Given the description of an element on the screen output the (x, y) to click on. 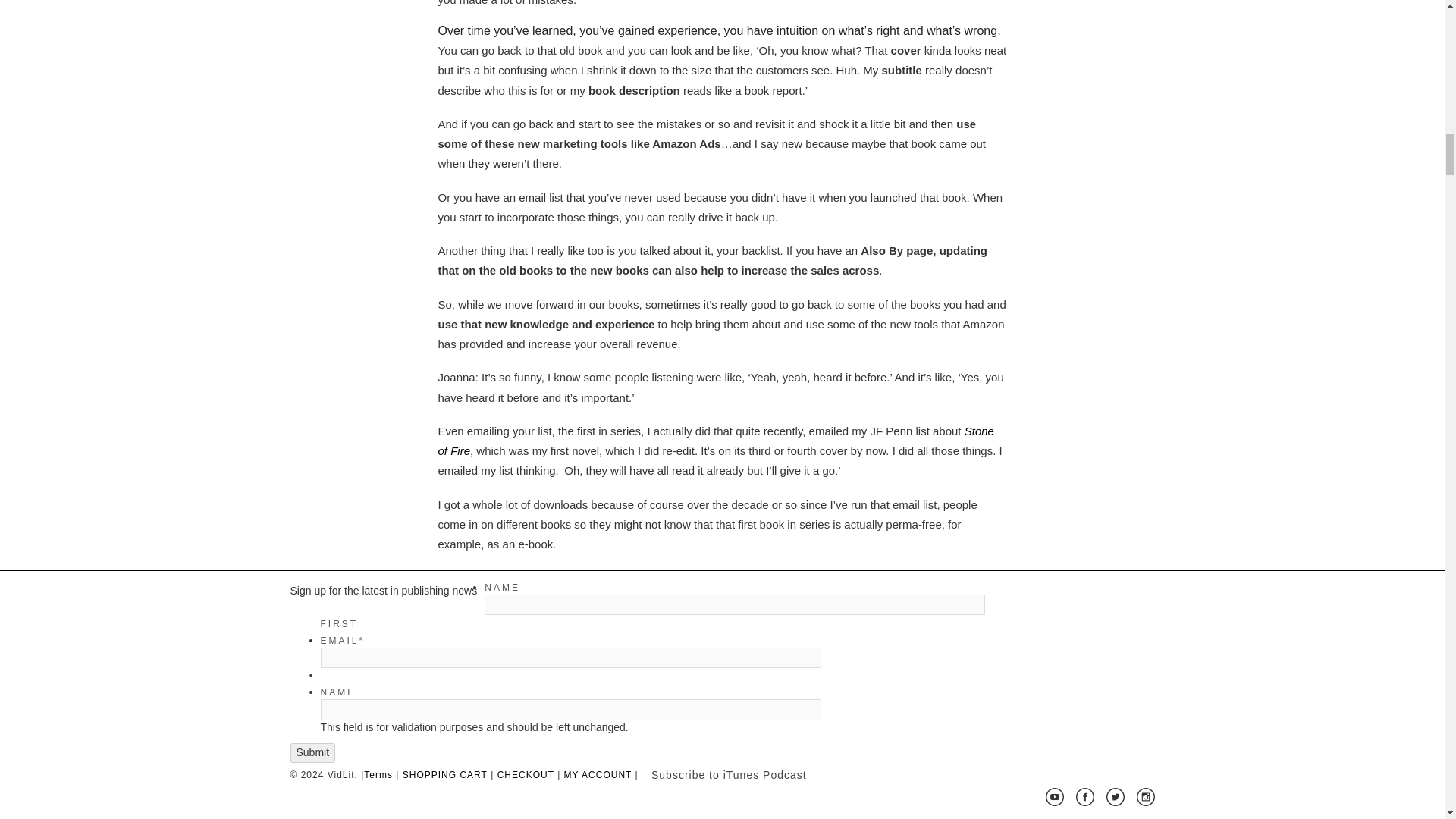
Stone of Fire (716, 441)
